Given the description of an element on the screen output the (x, y) to click on. 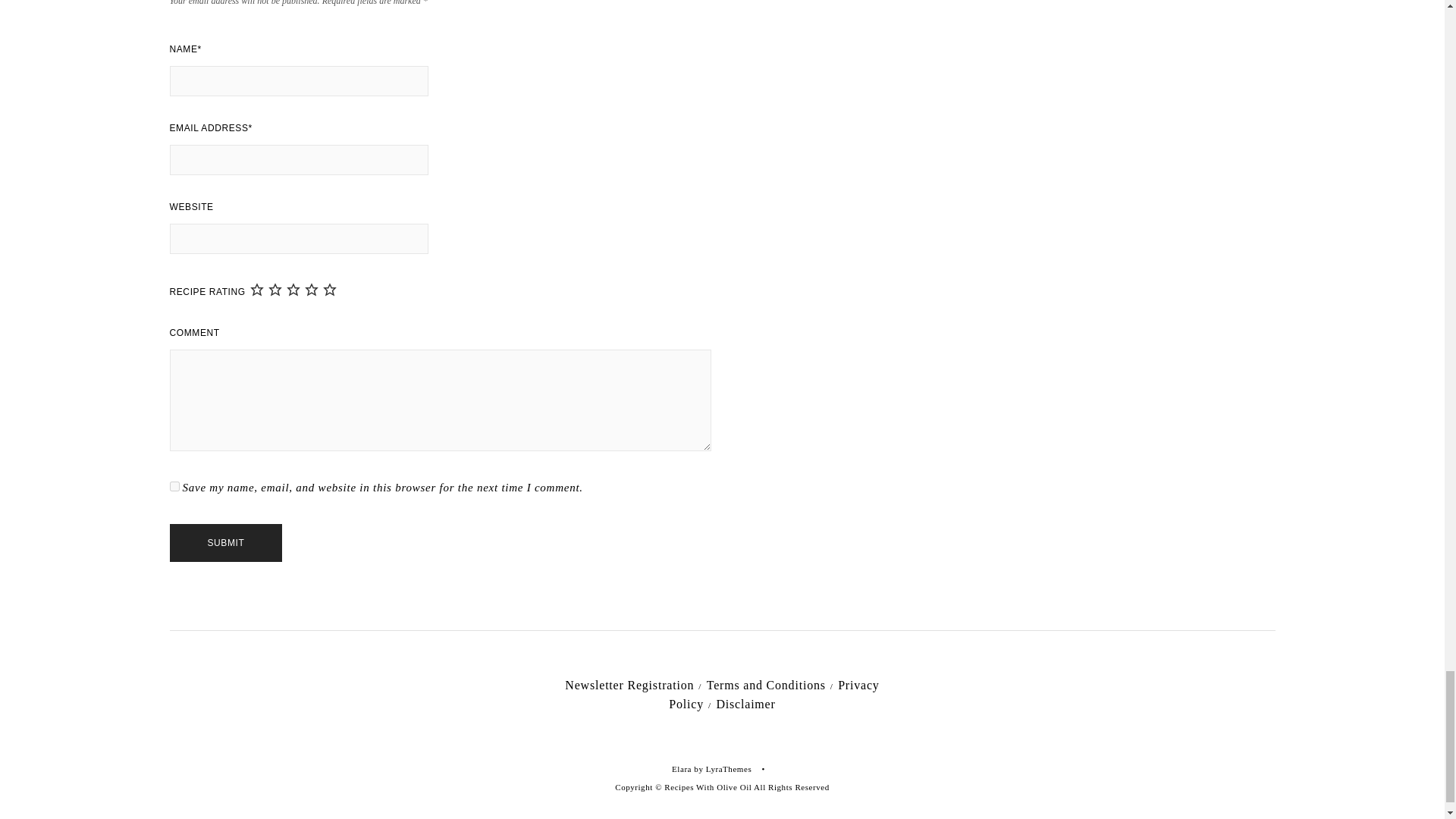
Elara (681, 768)
Submit (226, 542)
Privacy Policy (773, 694)
Submit (226, 542)
Disclaimer (745, 703)
Terms and Conditions (765, 684)
Newsletter Registration (629, 684)
yes (174, 486)
